Given the description of an element on the screen output the (x, y) to click on. 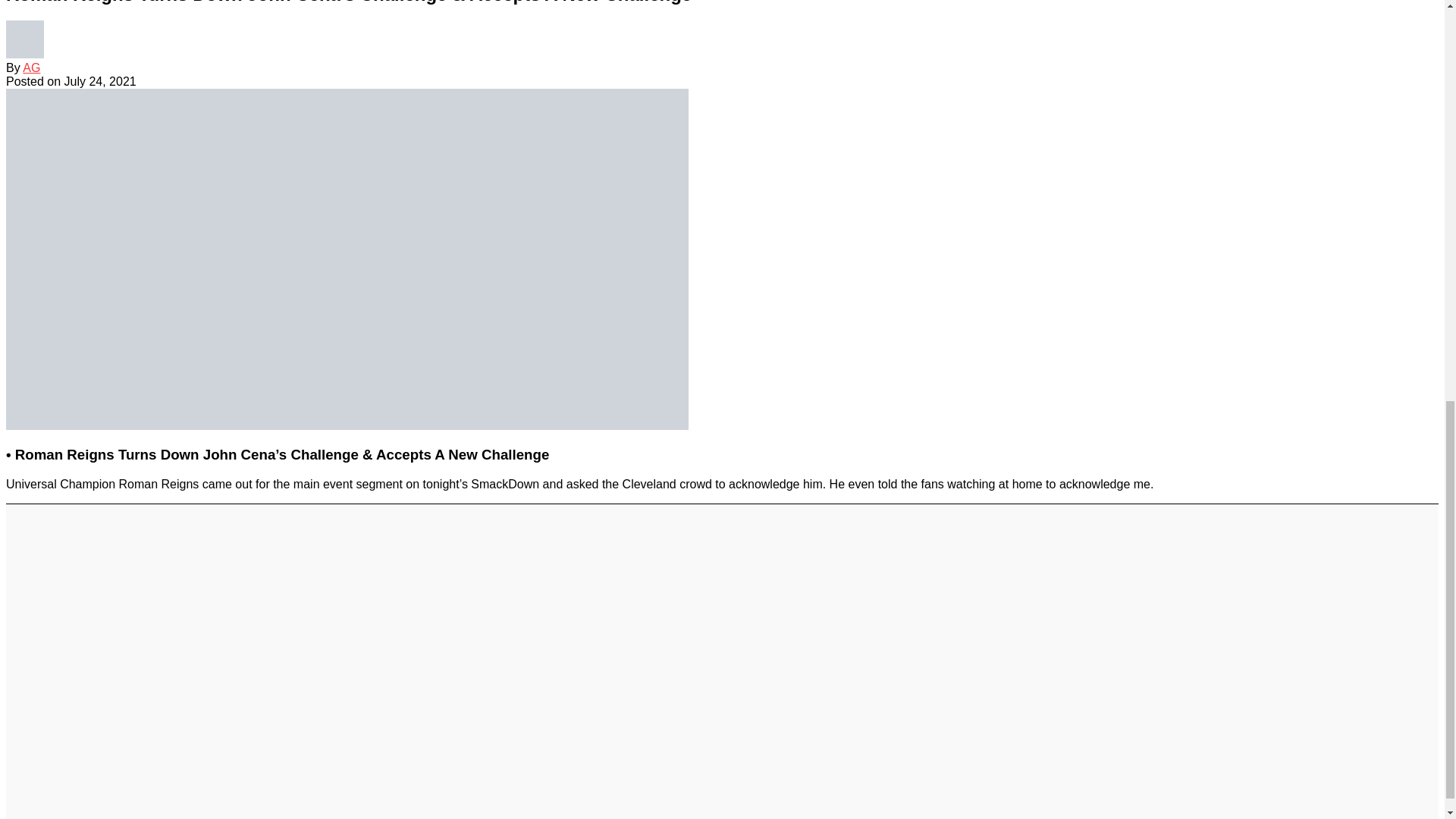
Posts by AG (31, 67)
